Given the description of an element on the screen output the (x, y) to click on. 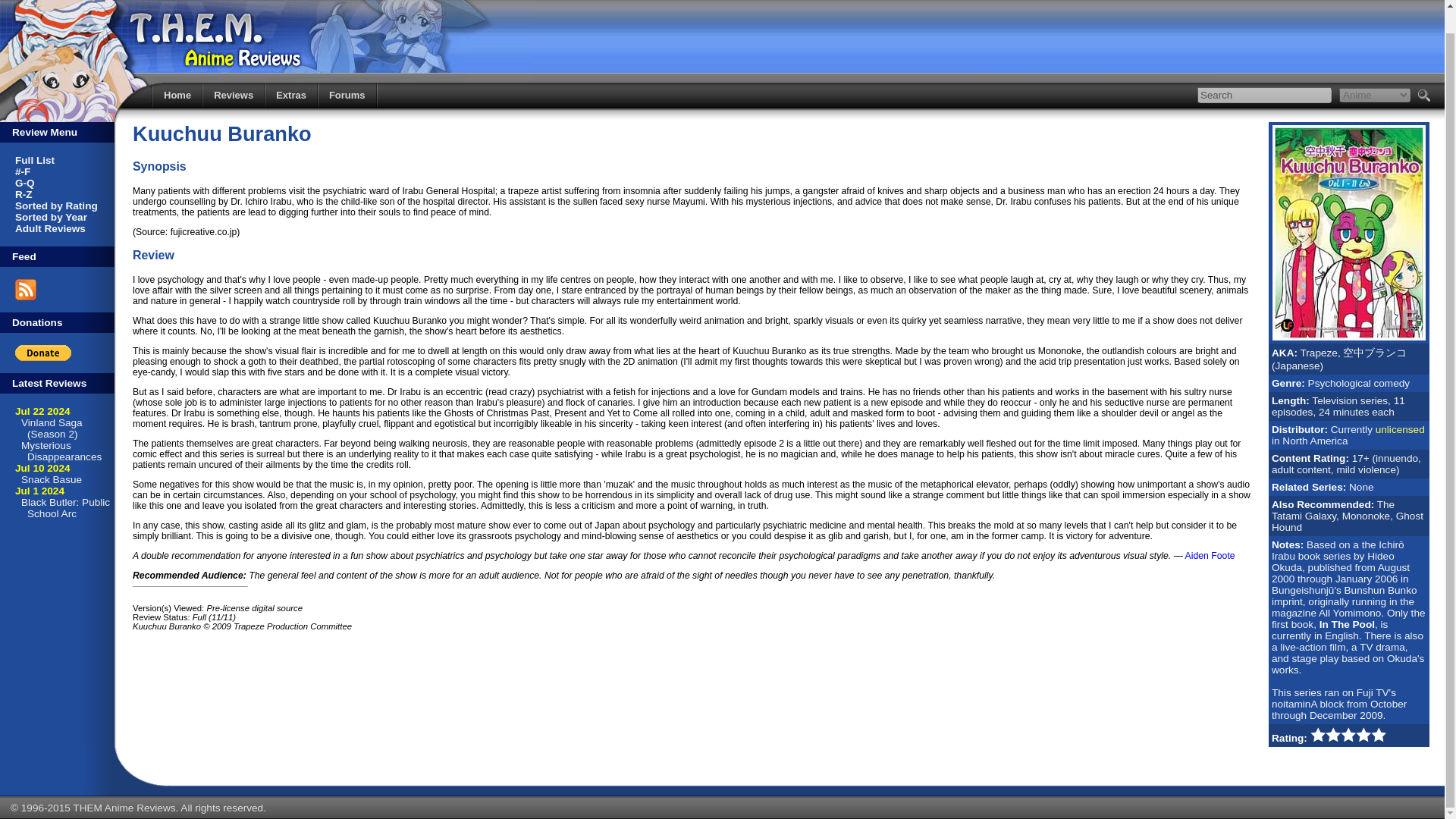
Sorted by Rating (55, 205)
Home (176, 94)
Search (1264, 94)
Sorted by Year (50, 216)
Black Butler: Public School Arc (65, 507)
Full List (34, 160)
Mysterious Disappearances (61, 450)
Aiden Foote (1209, 555)
Extras (290, 94)
unlicensed (1400, 429)
Forums (347, 94)
Reviews (233, 94)
G-Q (24, 183)
R-Z (23, 194)
Adult Reviews (49, 228)
